Given the description of an element on the screen output the (x, y) to click on. 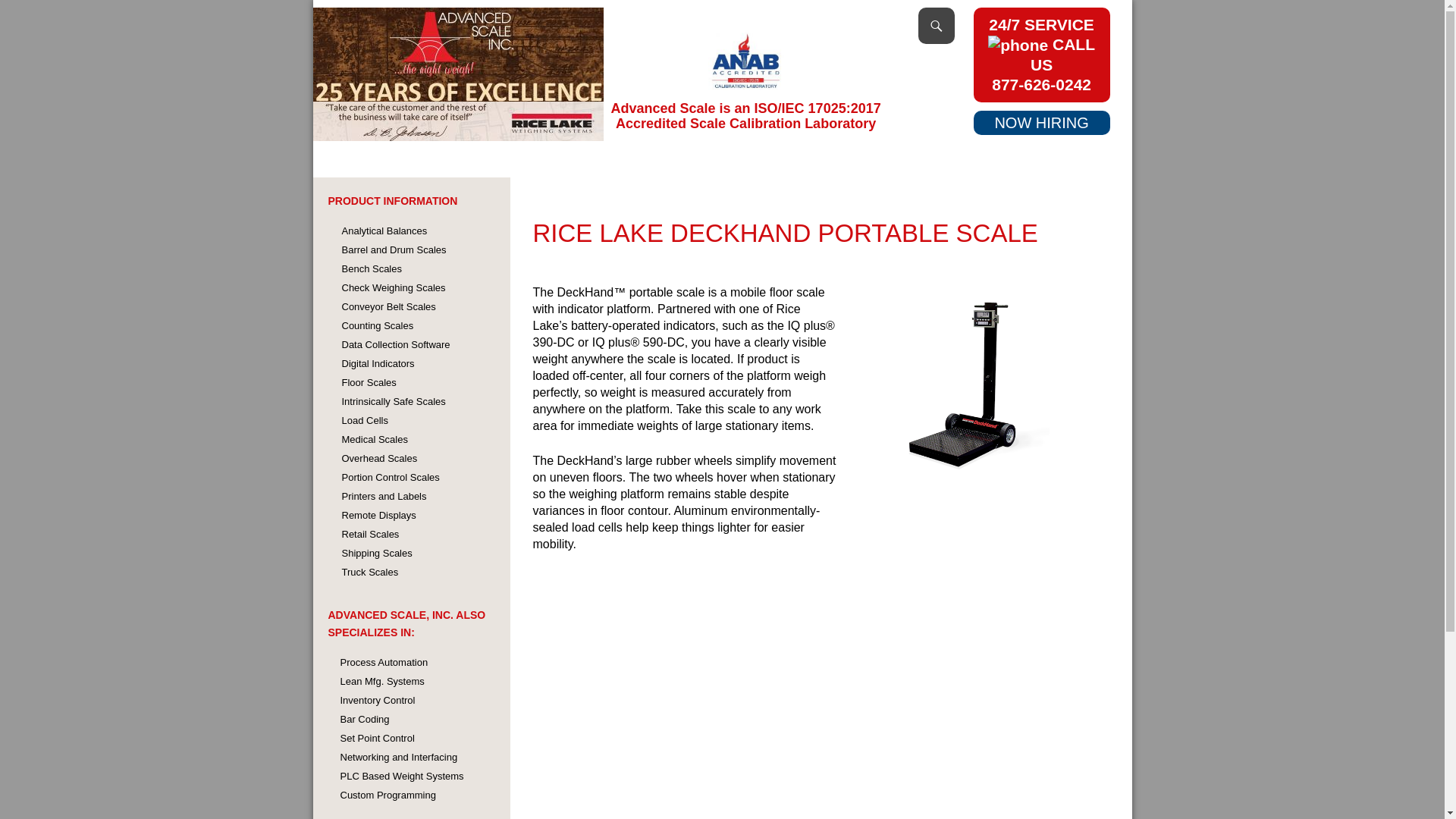
Medical Scales (373, 439)
Retail Scales (369, 533)
Floor Scales (368, 382)
Analytical Balances (383, 230)
NOW HIRING (1040, 122)
Printers and Labels (383, 496)
CONTACT US (1082, 158)
Remote Displays (377, 514)
Data Collection Software (394, 344)
Load Cells (363, 419)
